Given the description of an element on the screen output the (x, y) to click on. 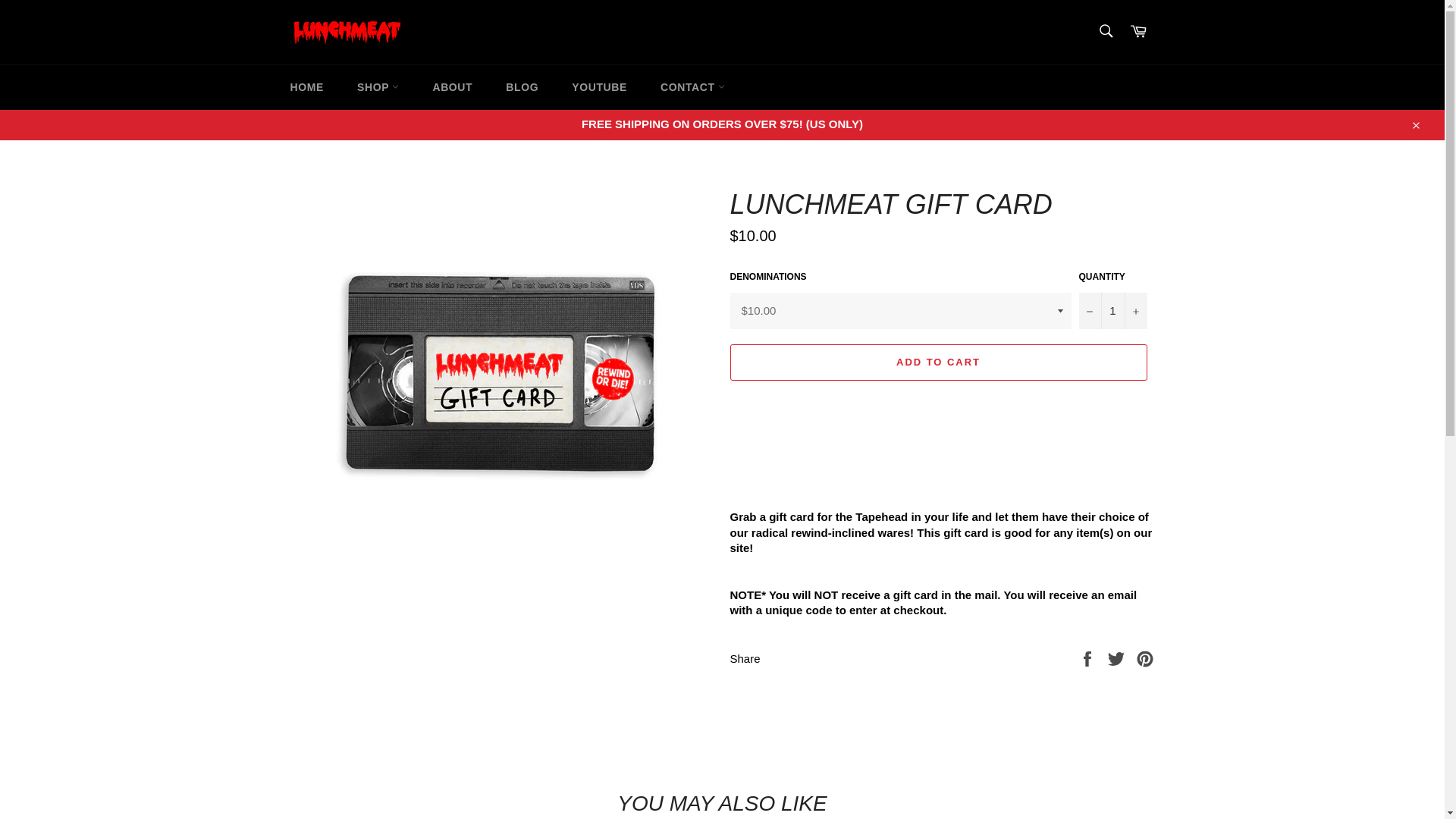
BLOG (521, 87)
SHOP (377, 87)
Close (1414, 124)
Pin on Pinterest (1144, 657)
ABOUT (451, 87)
Share on Facebook (1088, 657)
HOME (306, 87)
CONTACT (692, 87)
YOUTUBE (599, 87)
Search (1104, 30)
Cart (1138, 32)
Tweet on Twitter (1117, 657)
1 (1112, 310)
